Given the description of an element on the screen output the (x, y) to click on. 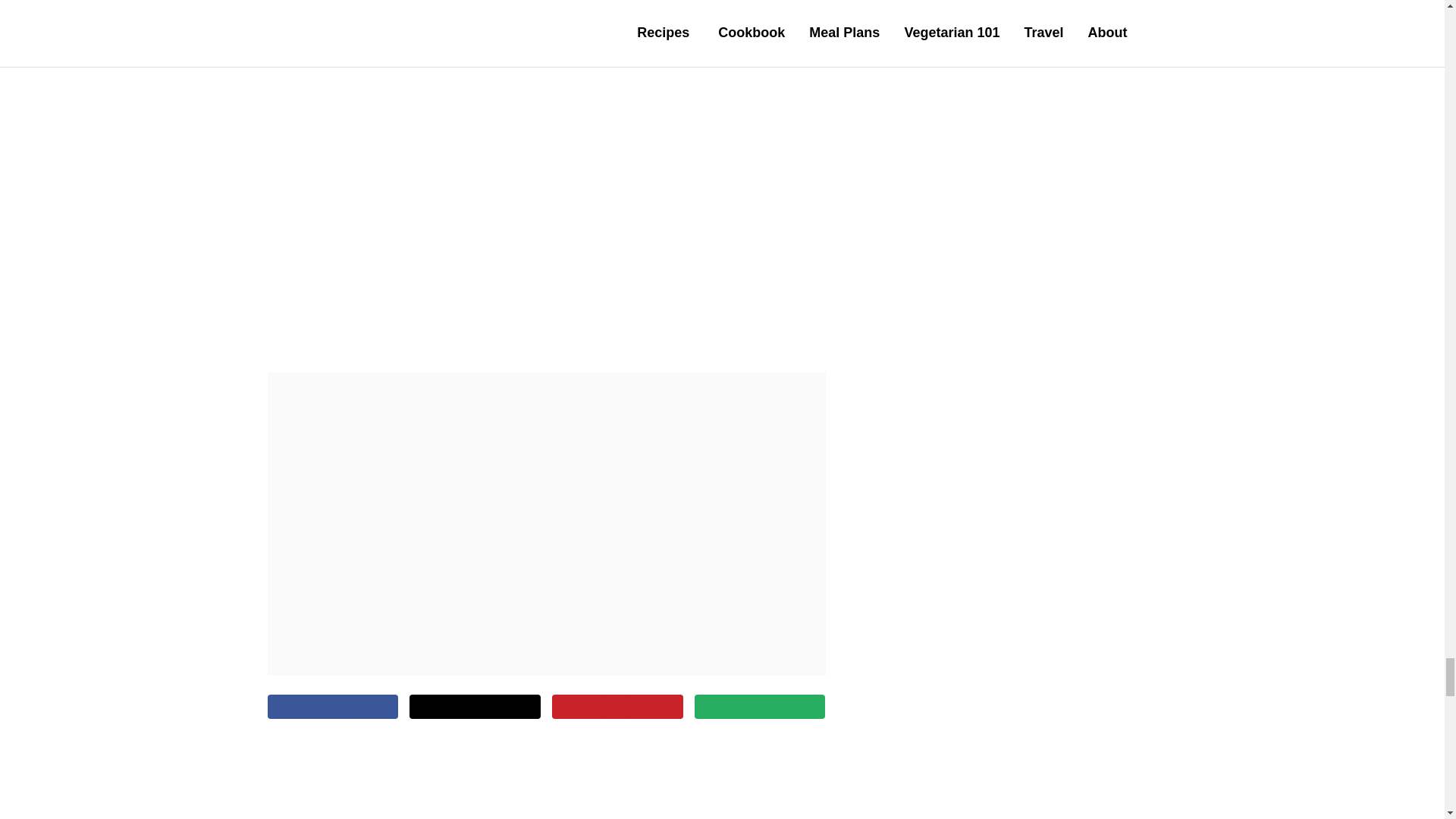
Save to Pinterest (616, 706)
Share on Facebook (331, 706)
Share on X (474, 706)
Send over email (759, 706)
